Given the description of an element on the screen output the (x, y) to click on. 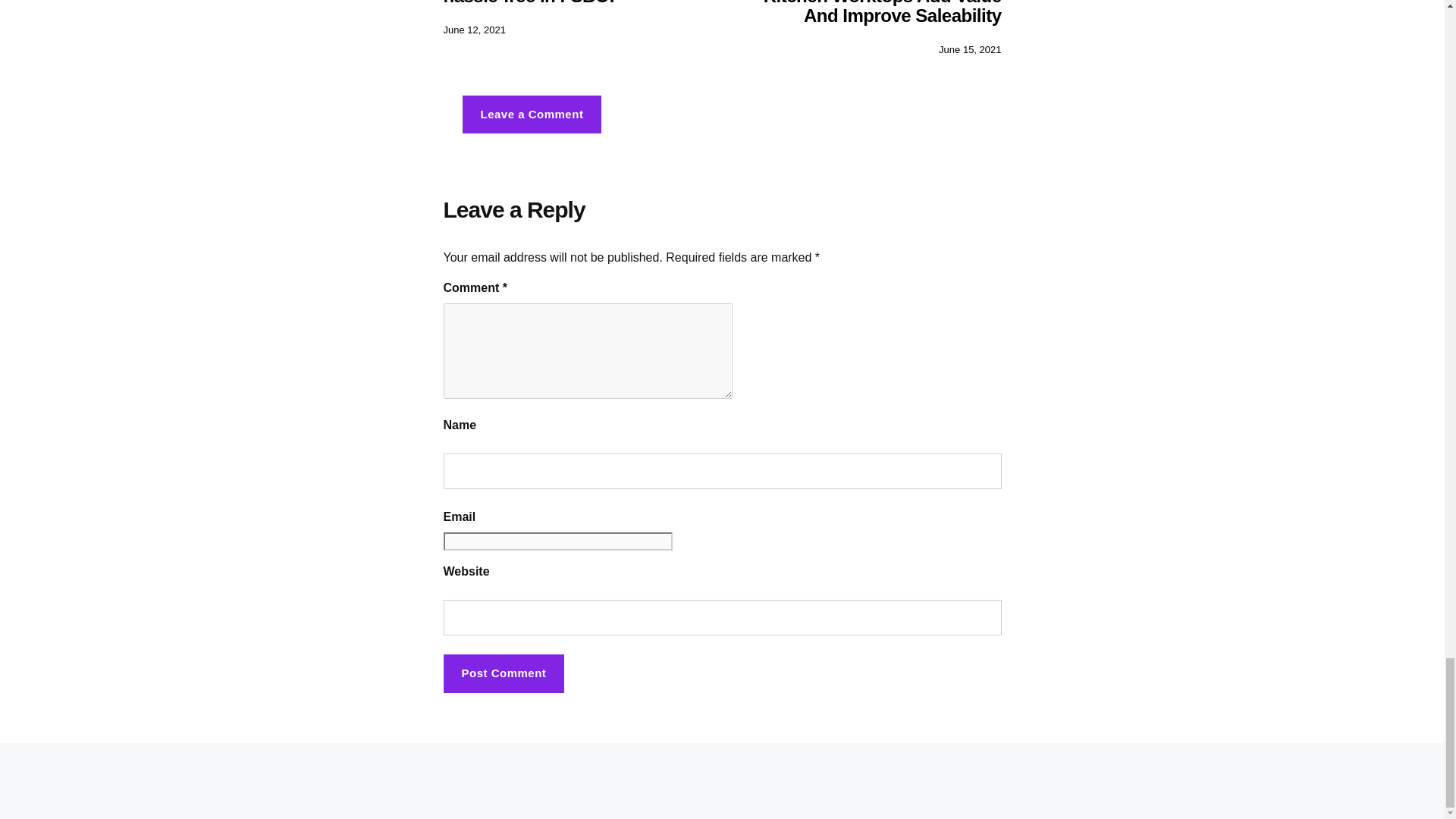
Post Comment (503, 673)
How to make transaction hassle-free in FSBO: (545, 2)
Post Comment (503, 673)
